Given the description of an element on the screen output the (x, y) to click on. 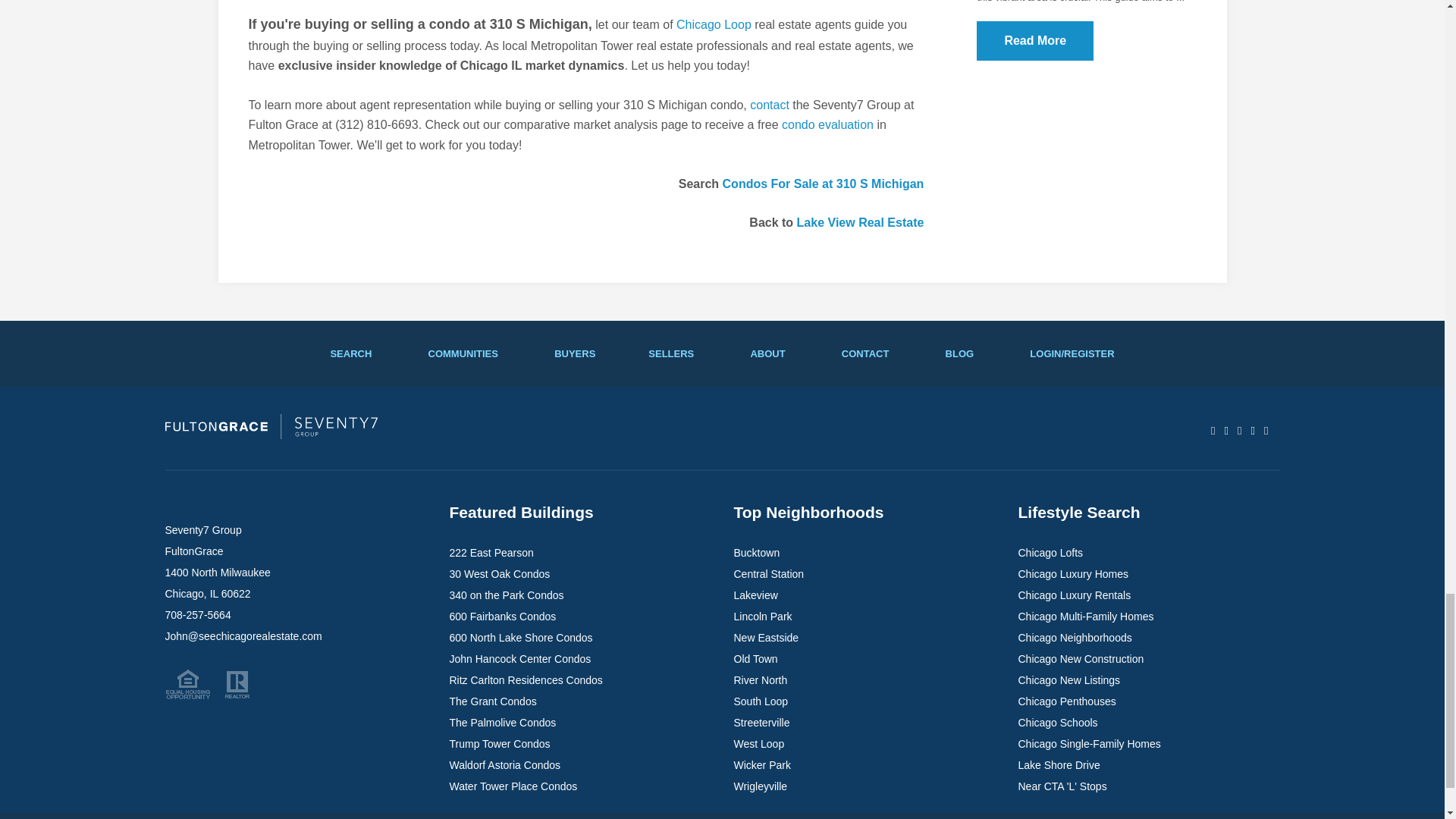
View Lincoln Park (762, 616)
View The Grant Condos (491, 701)
View Bucktown (756, 552)
View John Hancock Center Condos (519, 658)
View Lakeview (755, 594)
View Trump Tower Condos (499, 743)
View Ritz Carlton Residences Condos (525, 680)
View Waldorf Astoria Condos (504, 765)
View New Eastside (766, 637)
View Central Station (769, 573)
